Given the description of an element on the screen output the (x, y) to click on. 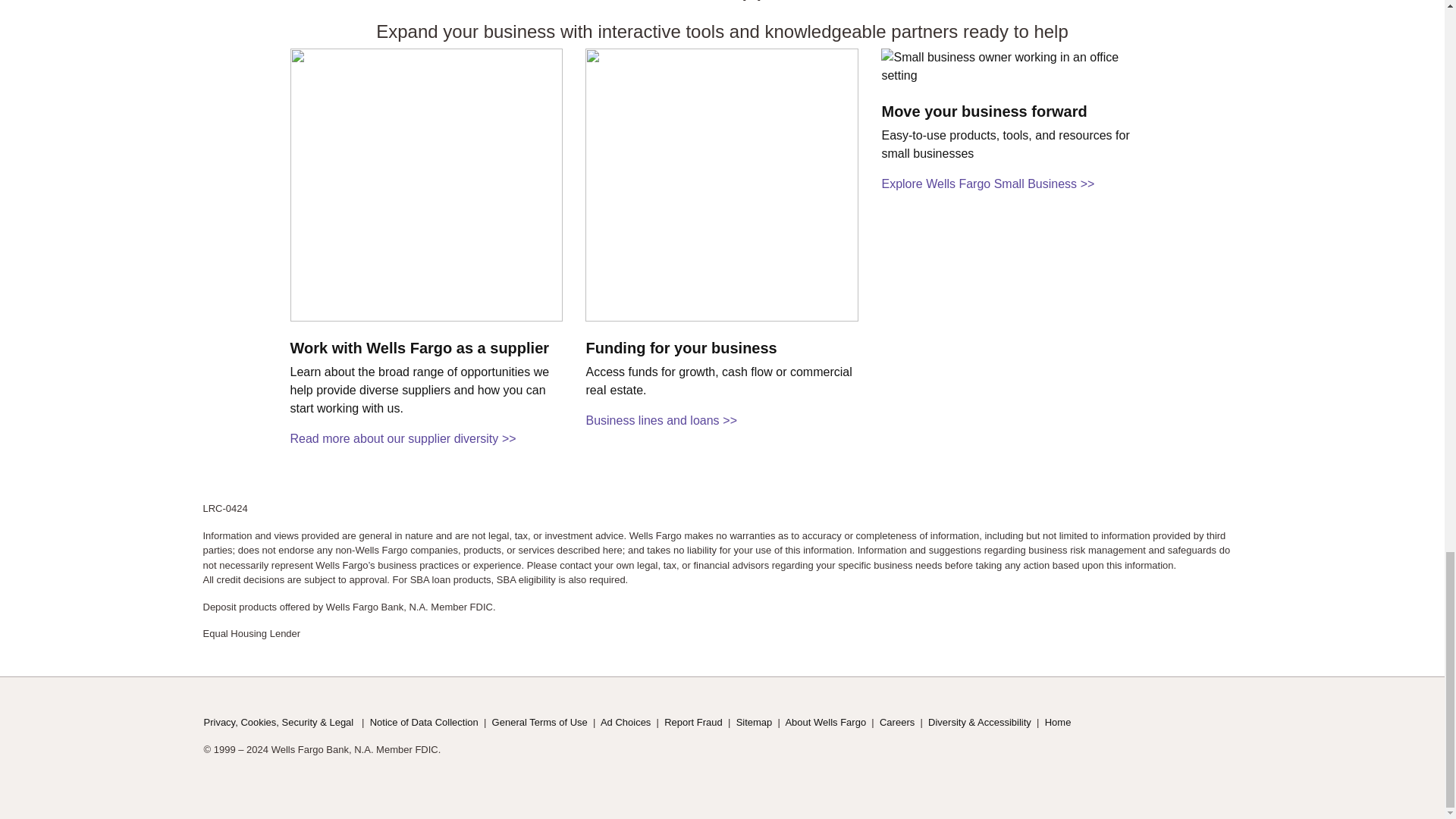
Ad Choices (624, 722)
Report Fraud (692, 722)
Notice of Data Collection (424, 722)
General Terms of Use (540, 722)
